Given the description of an element on the screen output the (x, y) to click on. 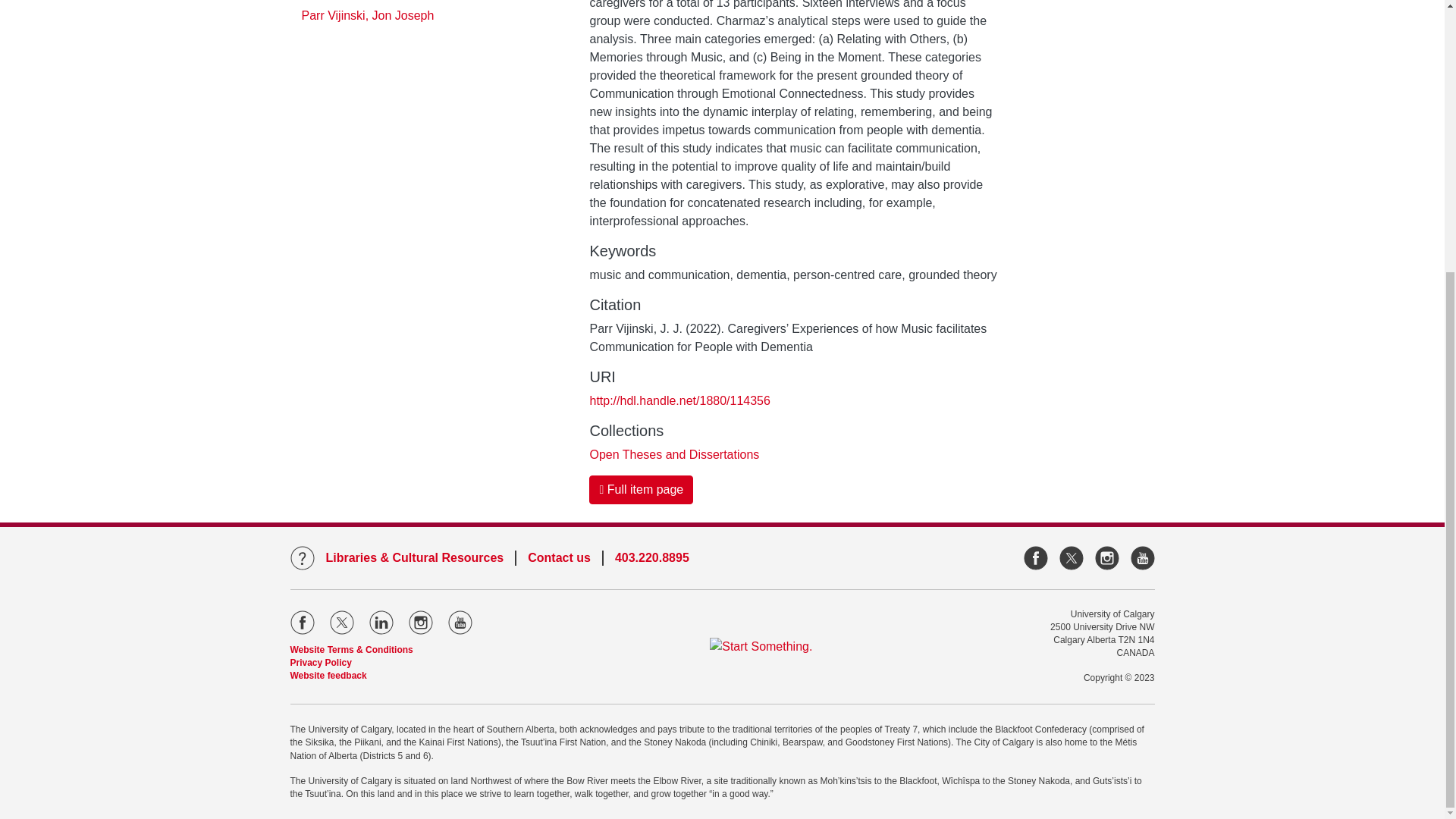
Contact us (58, 166)
Full item page (641, 70)
403.220.8895 (67, 185)
Open Theses and Dissertations (673, 34)
